Given the description of an element on the screen output the (x, y) to click on. 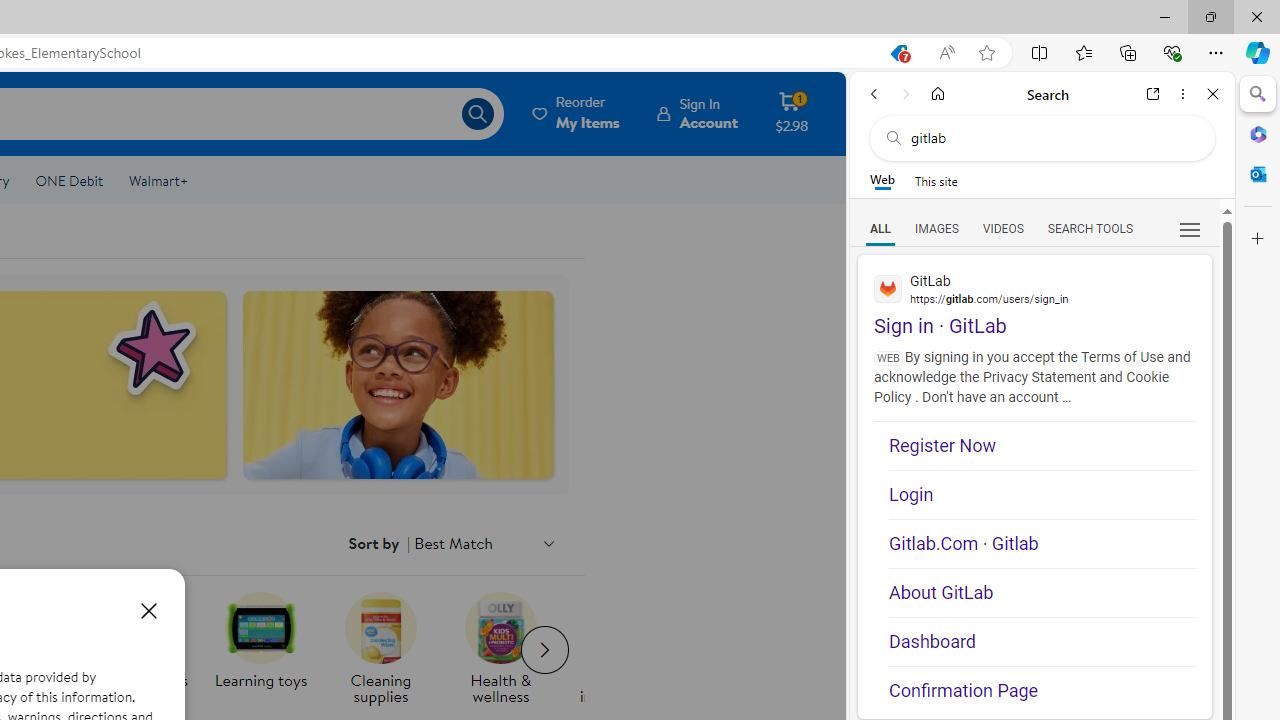
ALL   (881, 228)
Preferences (1189, 228)
Dashboard (1042, 641)
Class: b_serphb (1190, 229)
Home (938, 93)
Microsoft 365 (1258, 133)
GitLab (1034, 288)
Login (1042, 494)
Login (1042, 494)
Customize (1258, 239)
Search Filter, VIDEOS (1002, 228)
SEARCH TOOLS (1090, 228)
Confirmation Page (1042, 684)
